Given the description of an element on the screen output the (x, y) to click on. 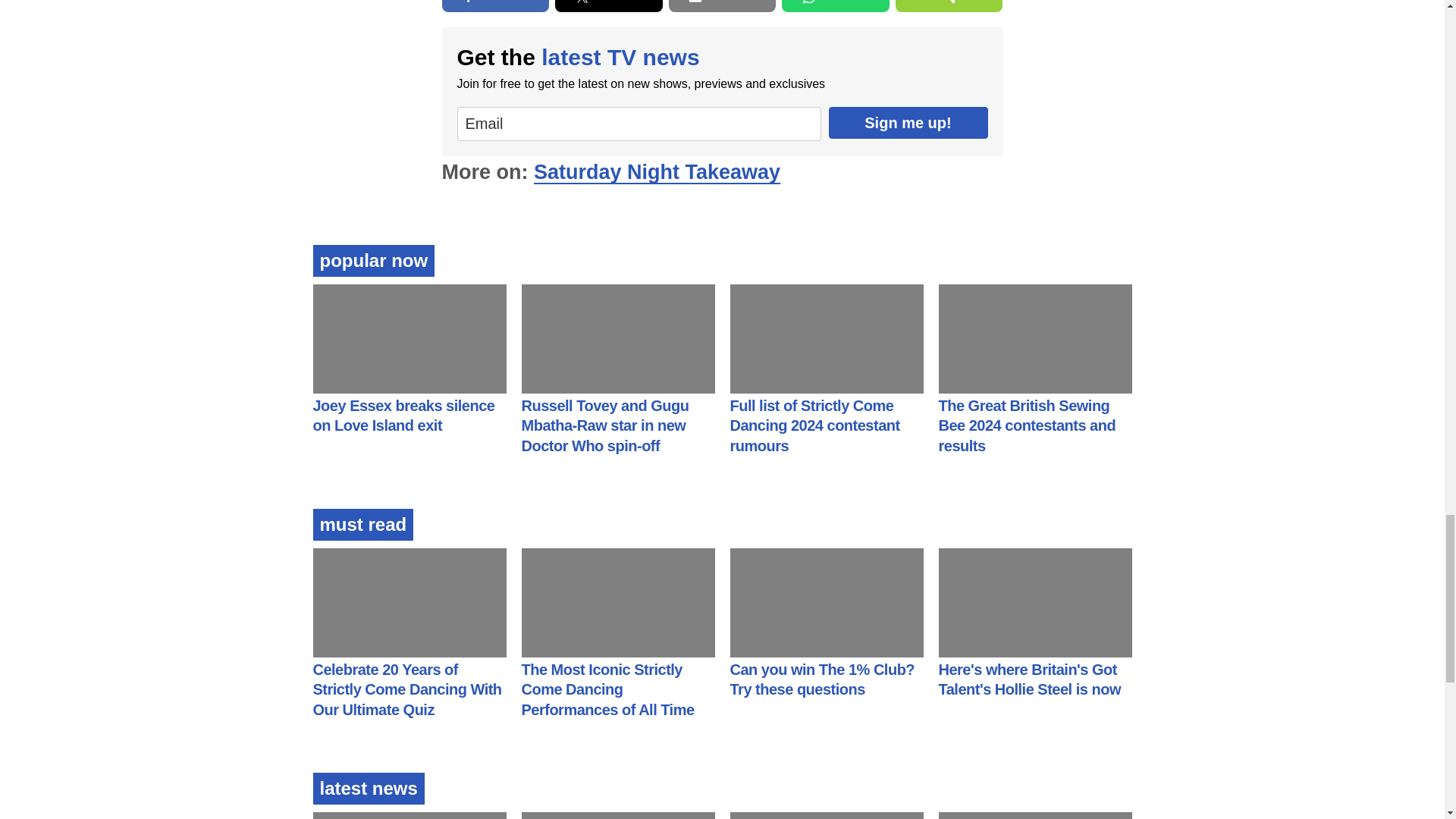
Sign me up! (907, 122)
Joey Essex breaks silence on Love Island exit (404, 415)
Saturday Night Takeaway (657, 171)
